Given the description of an element on the screen output the (x, y) to click on. 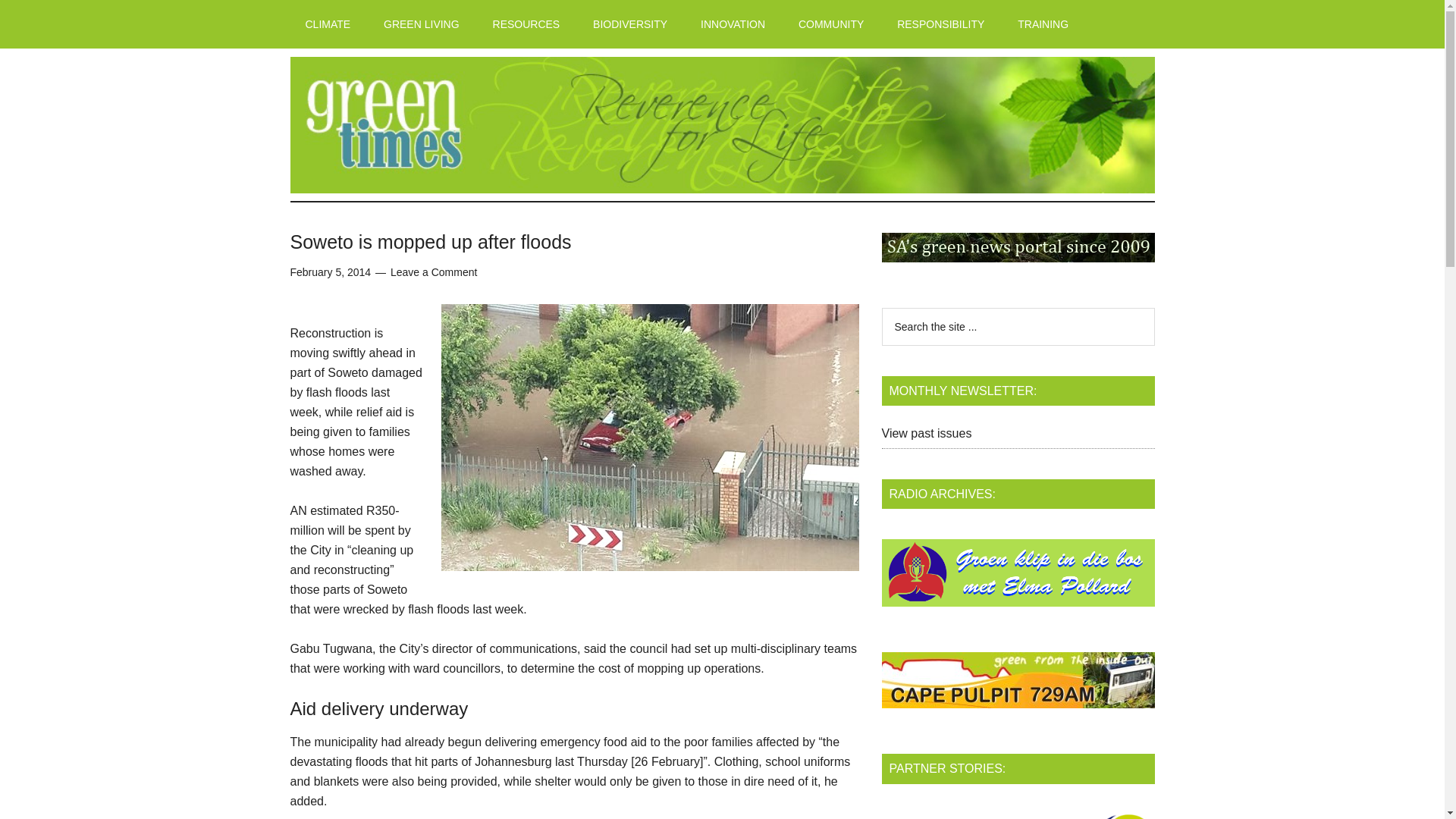
GREEN LIVING (421, 24)
INNOVATION (732, 24)
CLIMATE (327, 24)
BIODIVERSITY (630, 24)
COMMUNITY (831, 24)
RESOURCES (526, 24)
